Given the description of an element on the screen output the (x, y) to click on. 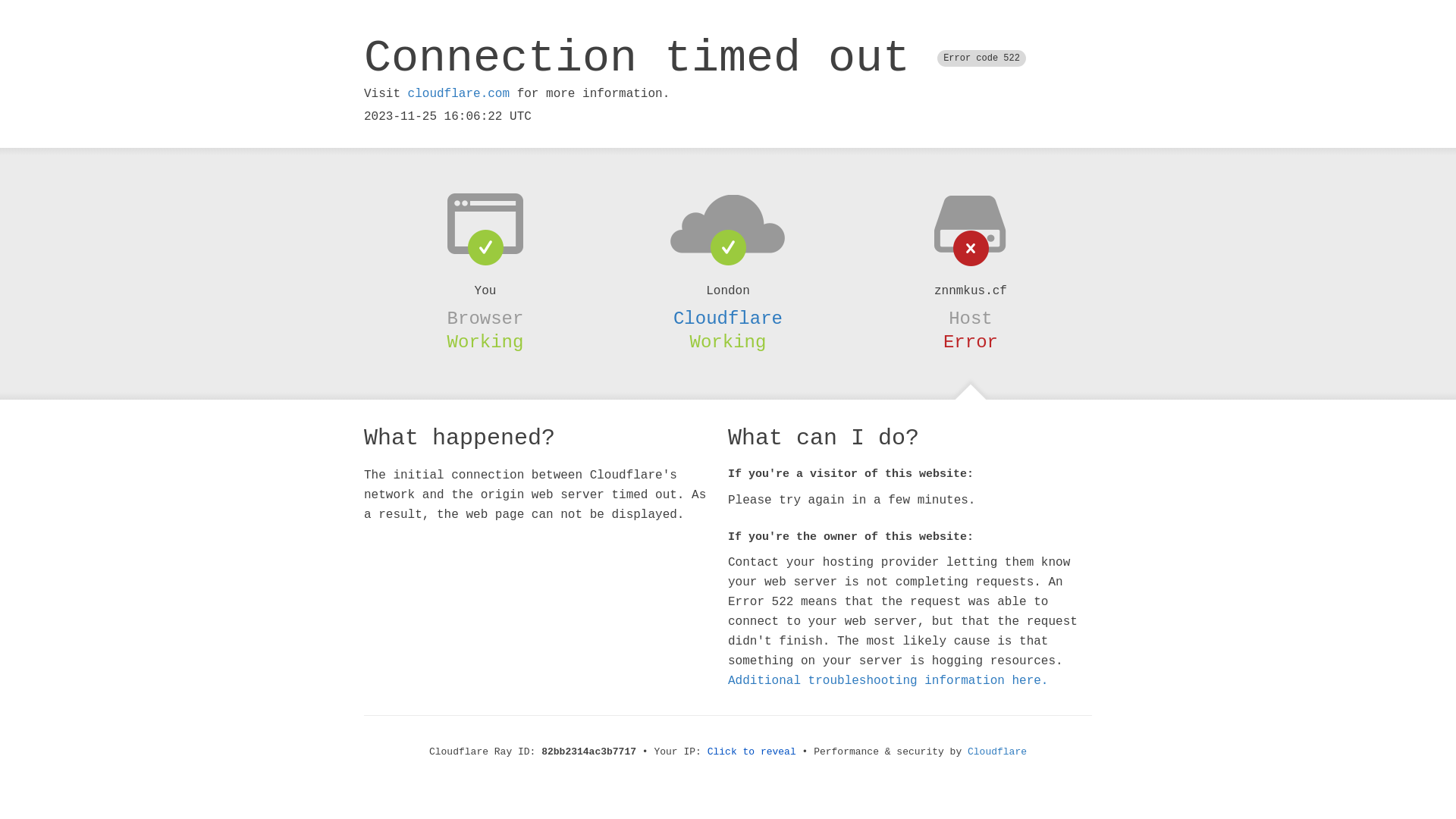
cloudflare.com Element type: text (458, 93)
Cloudflare Element type: text (727, 318)
Additional troubleshooting information here. Element type: text (888, 680)
Cloudflare Element type: text (996, 751)
Click to reveal Element type: text (751, 751)
